Given the description of an element on the screen output the (x, y) to click on. 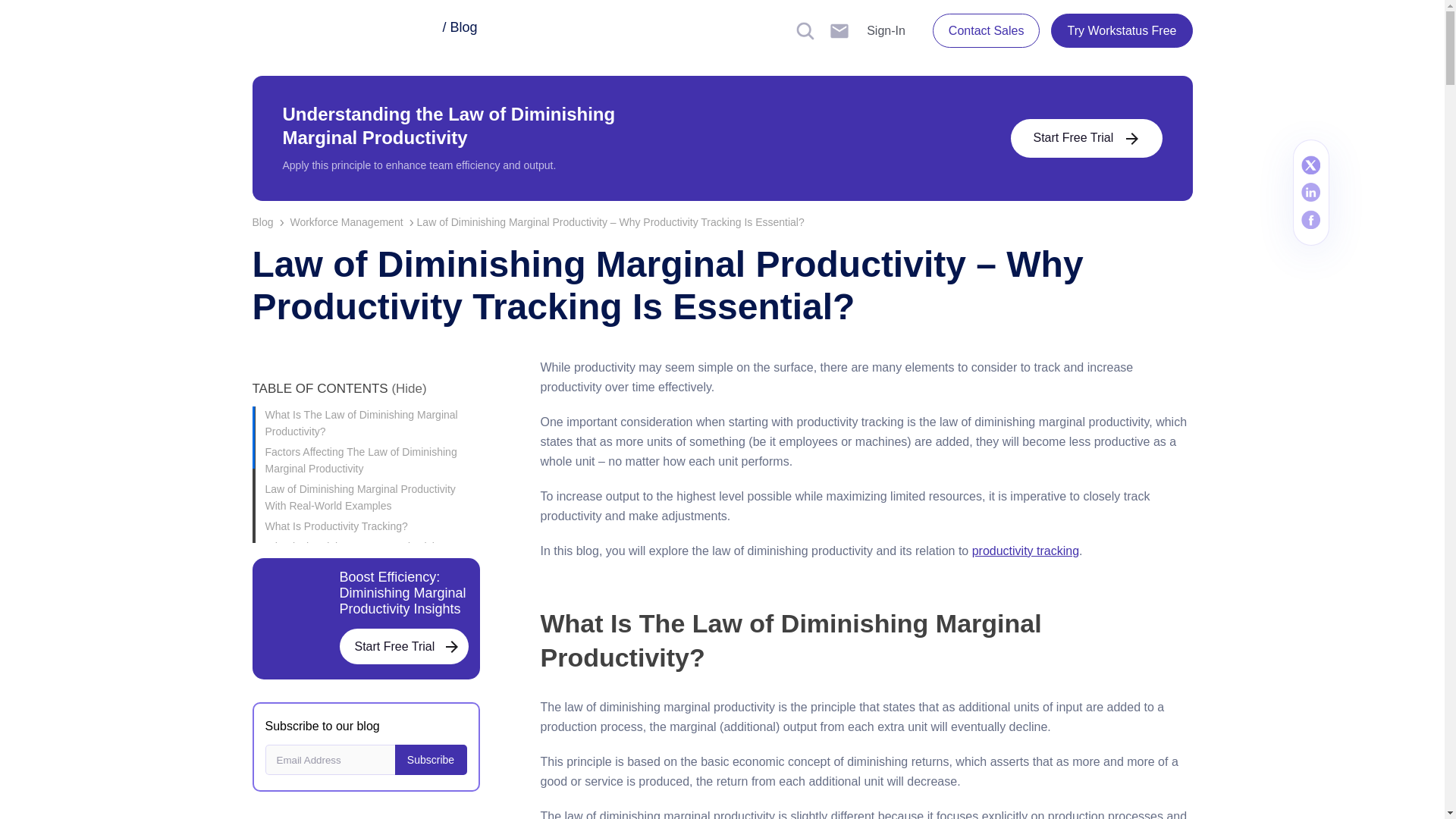
Try Workstatus Free (1121, 30)
search (804, 30)
Subscribe (429, 759)
Subscribe (429, 759)
What Is Productivity Tracking?  (372, 525)
